Given the description of an element on the screen output the (x, y) to click on. 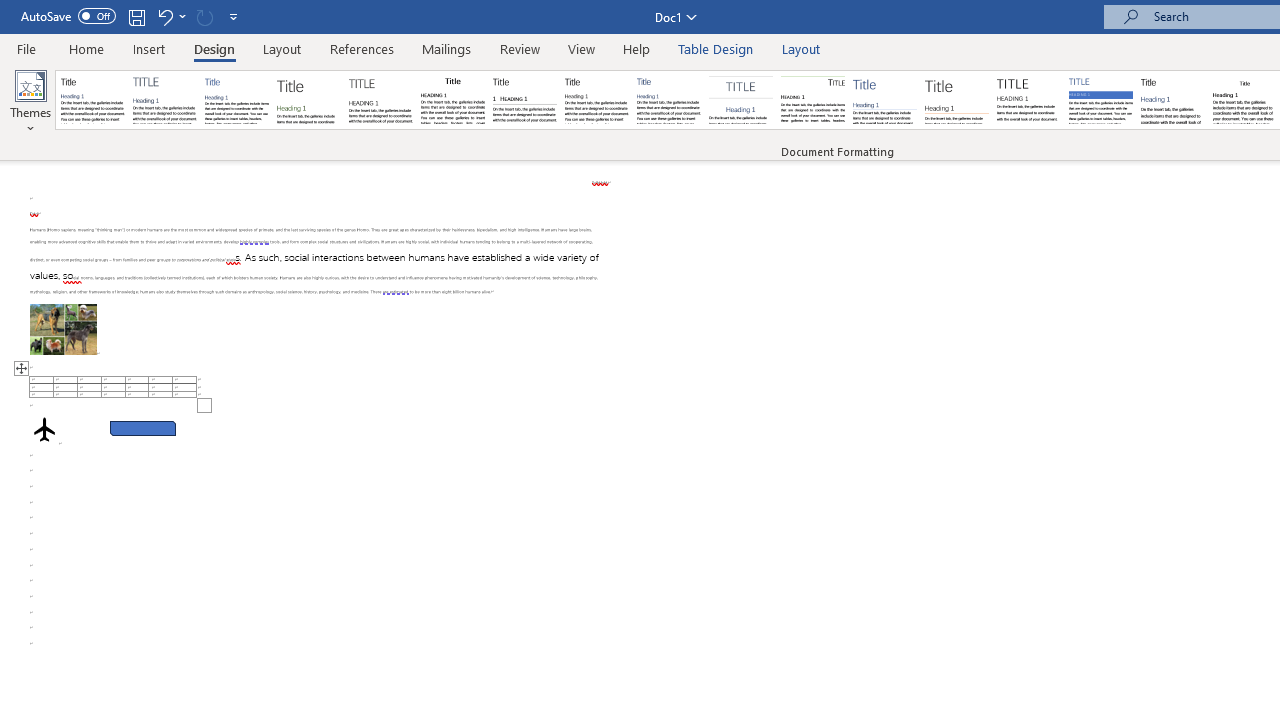
Can't Repeat (204, 15)
Undo Apply Quick Style Set (164, 15)
Shaded (1100, 100)
Black & White (Capitalized) (381, 100)
Undo Apply Quick Style Set (170, 15)
Black & White (Word 2013) (596, 100)
